Given the description of an element on the screen output the (x, y) to click on. 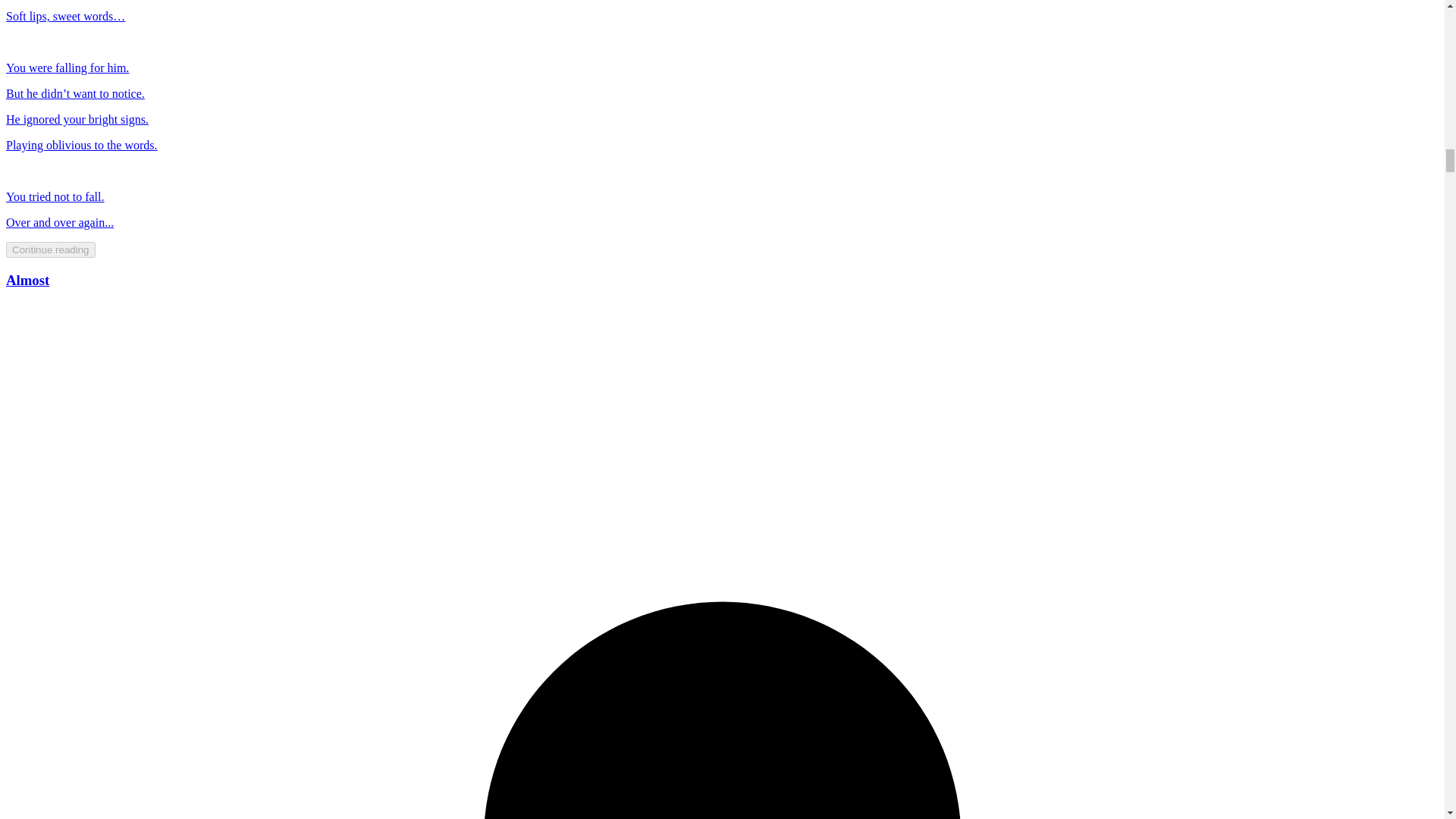
Continue reading (50, 248)
Continue reading (50, 249)
